Given the description of an element on the screen output the (x, y) to click on. 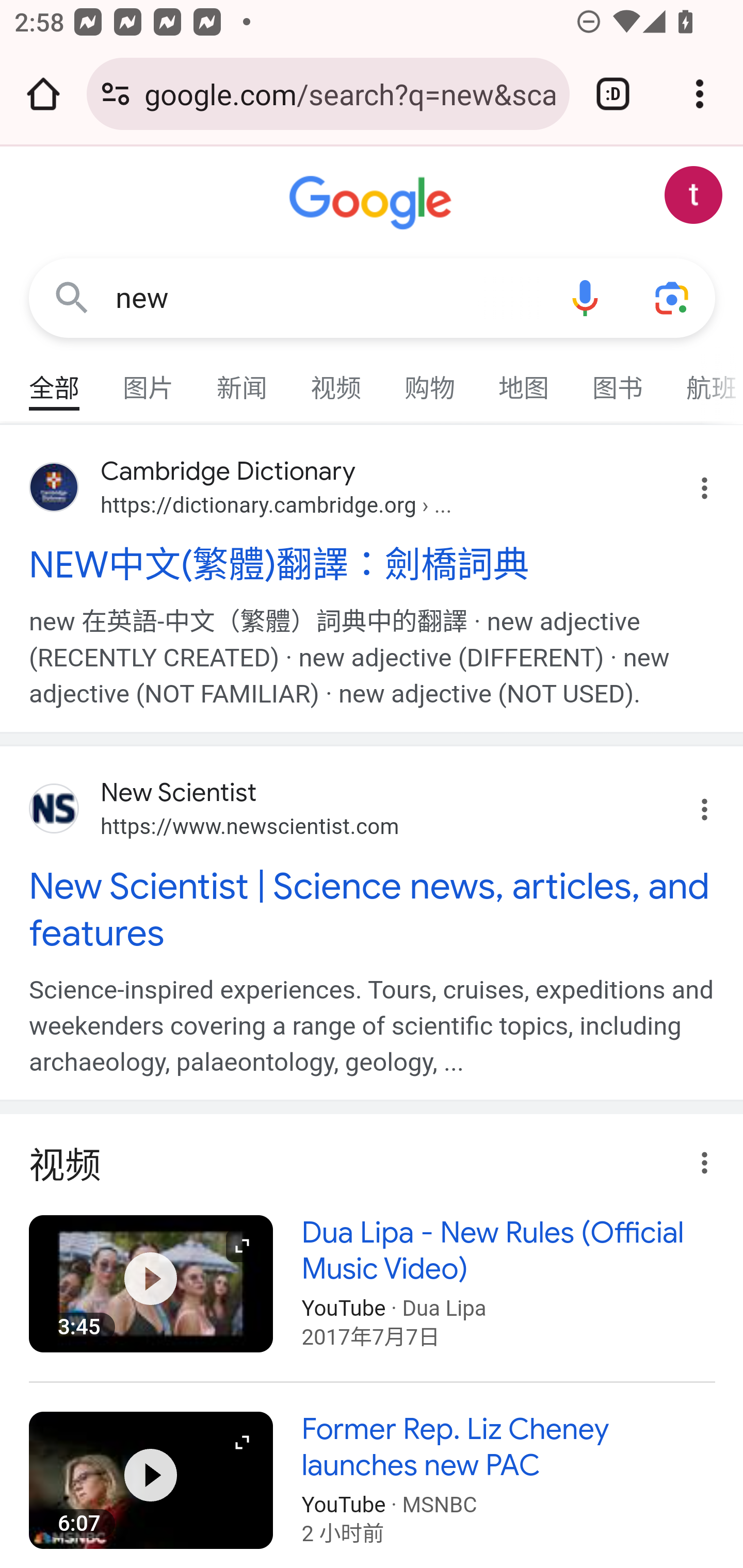
Open the home page (43, 93)
Connection is secure (115, 93)
Switch or close tabs (612, 93)
Customize and control Google Chrome (699, 93)
Google (372, 203)
Google 账号： test appium (testappium002@gmail.com) (694, 195)
Google 搜索 (71, 296)
使用拍照功能或照片进行搜索 (672, 296)
new (328, 297)
图片 (148, 378)
新闻 (242, 378)
视频 (336, 378)
购物 (430, 378)
地图 (524, 378)
图书 (618, 378)
航班 (703, 378)
NEW中文(繁體)翻譯：劍橋詞典 (372, 564)
关于这条结果的详细信息 (698, 1157)
